Given the description of an element on the screen output the (x, y) to click on. 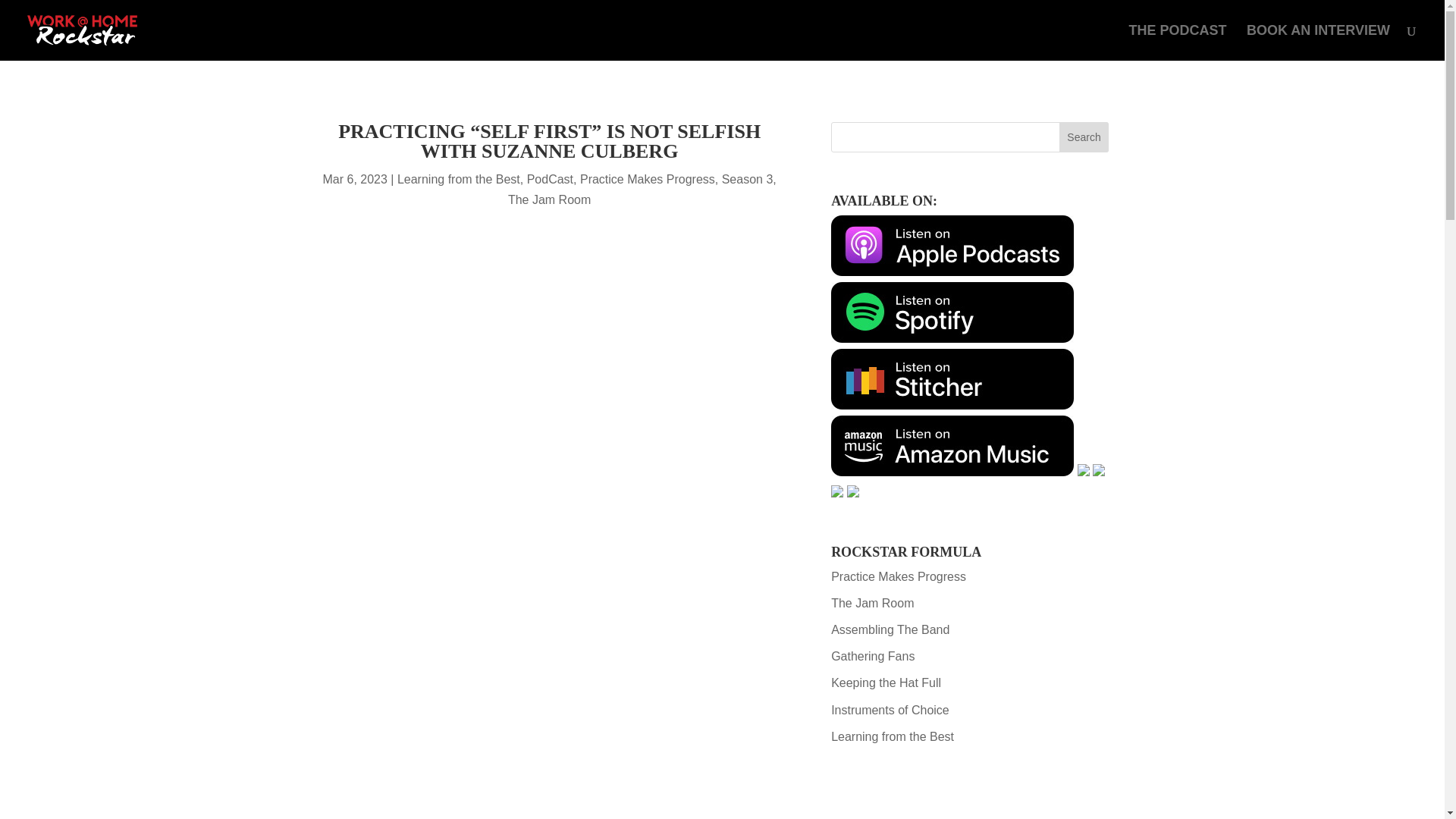
Embed Player (548, 796)
Practice Makes Progress (646, 178)
Gathering Fans (872, 656)
Search (1084, 137)
Search (1084, 137)
Keeping the Hat Full (885, 682)
THE PODCAST (1178, 42)
The Jam Room (549, 199)
Season 3 (747, 178)
Practice Makes Progress (898, 576)
